Given the description of an element on the screen output the (x, y) to click on. 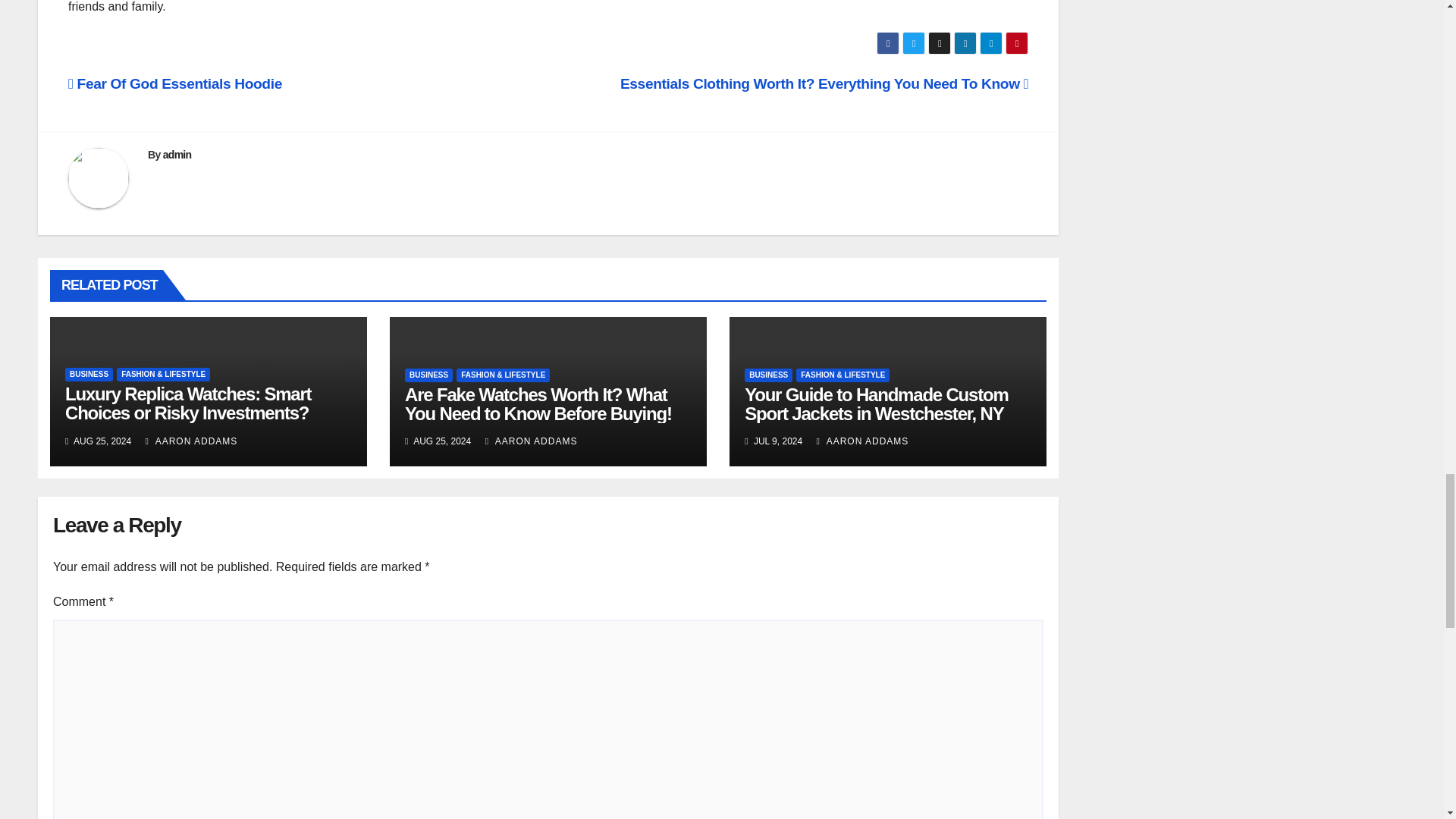
Essentials Clothing Worth It? Everything You Need To Know (823, 83)
AARON ADDAMS (191, 440)
BUSINESS (428, 375)
Fear Of God Essentials Hoodie (175, 83)
admin (177, 154)
BUSINESS (89, 374)
